Given the description of an element on the screen output the (x, y) to click on. 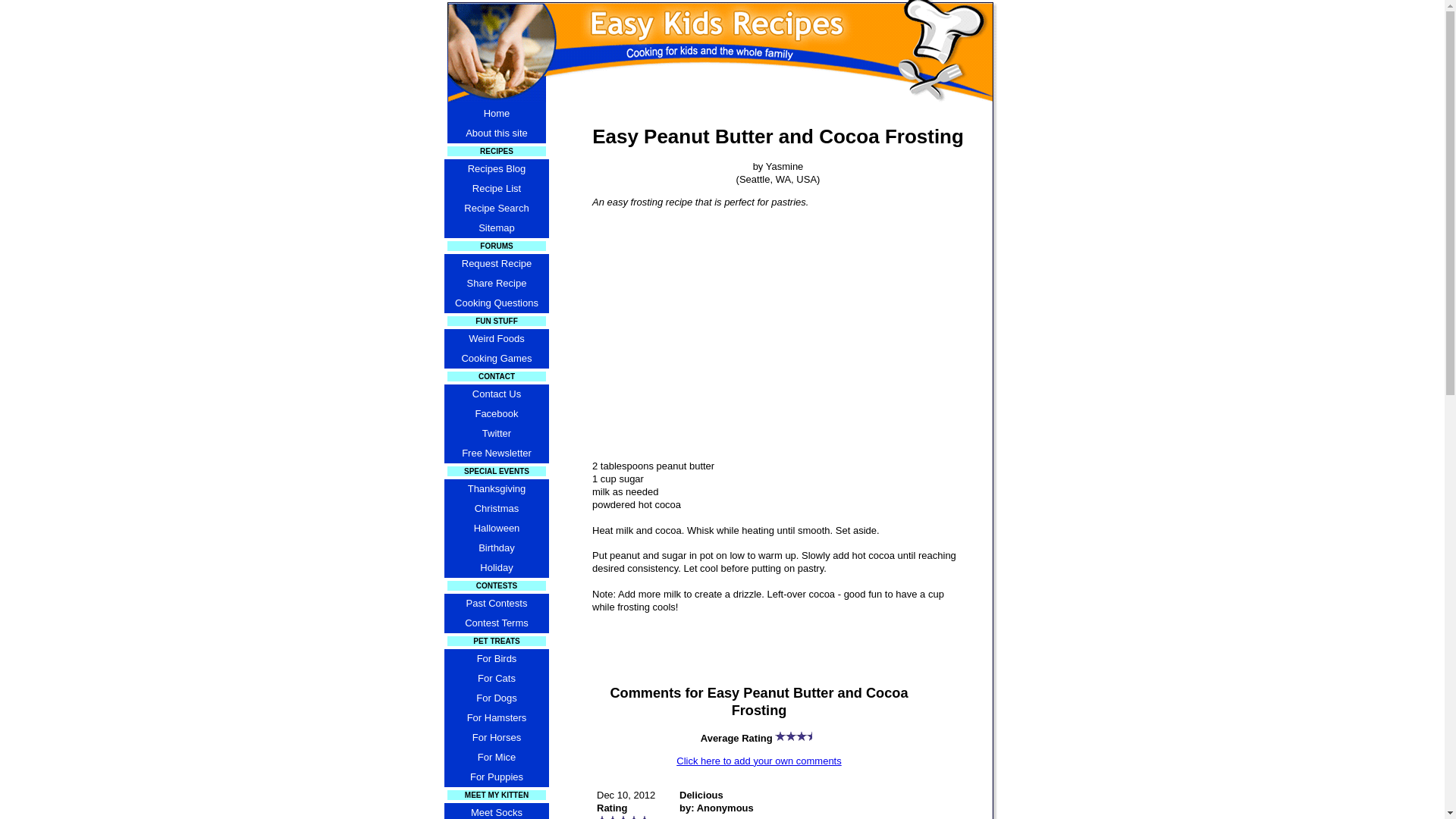
For Horses (496, 737)
Recipe List (496, 189)
Past Contests (496, 603)
Twitter (496, 433)
For Puppies (496, 777)
Sitemap (496, 228)
Share Recipe (496, 283)
Click here to add your own comments (759, 760)
Free Newsletter (496, 453)
Recipes Blog (496, 168)
